Given the description of an element on the screen output the (x, y) to click on. 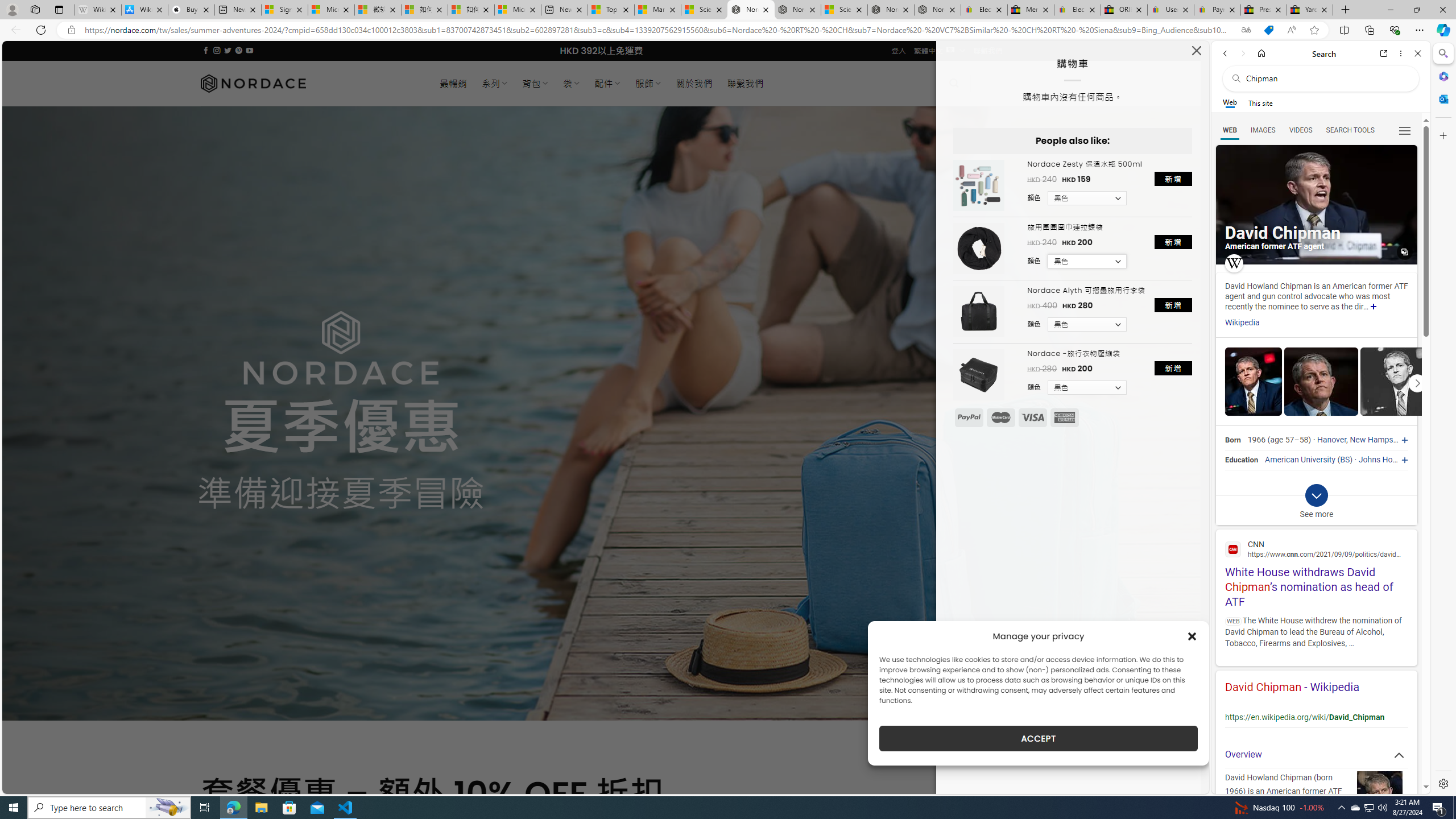
Education (1240, 459)
Search Filter, IMAGES (1262, 129)
Search Filter, Search Tools (1350, 129)
Close (Esc) (1195, 53)
Nordace (252, 83)
New tab (563, 9)
Class: b_exp_chevron_svg b_expmob_chev (1315, 495)
SEARCH TOOLS (1350, 130)
American University (1300, 460)
Class: feather feather-x (1196, 50)
Microsoft 365 (1442, 76)
